Given the description of an element on the screen output the (x, y) to click on. 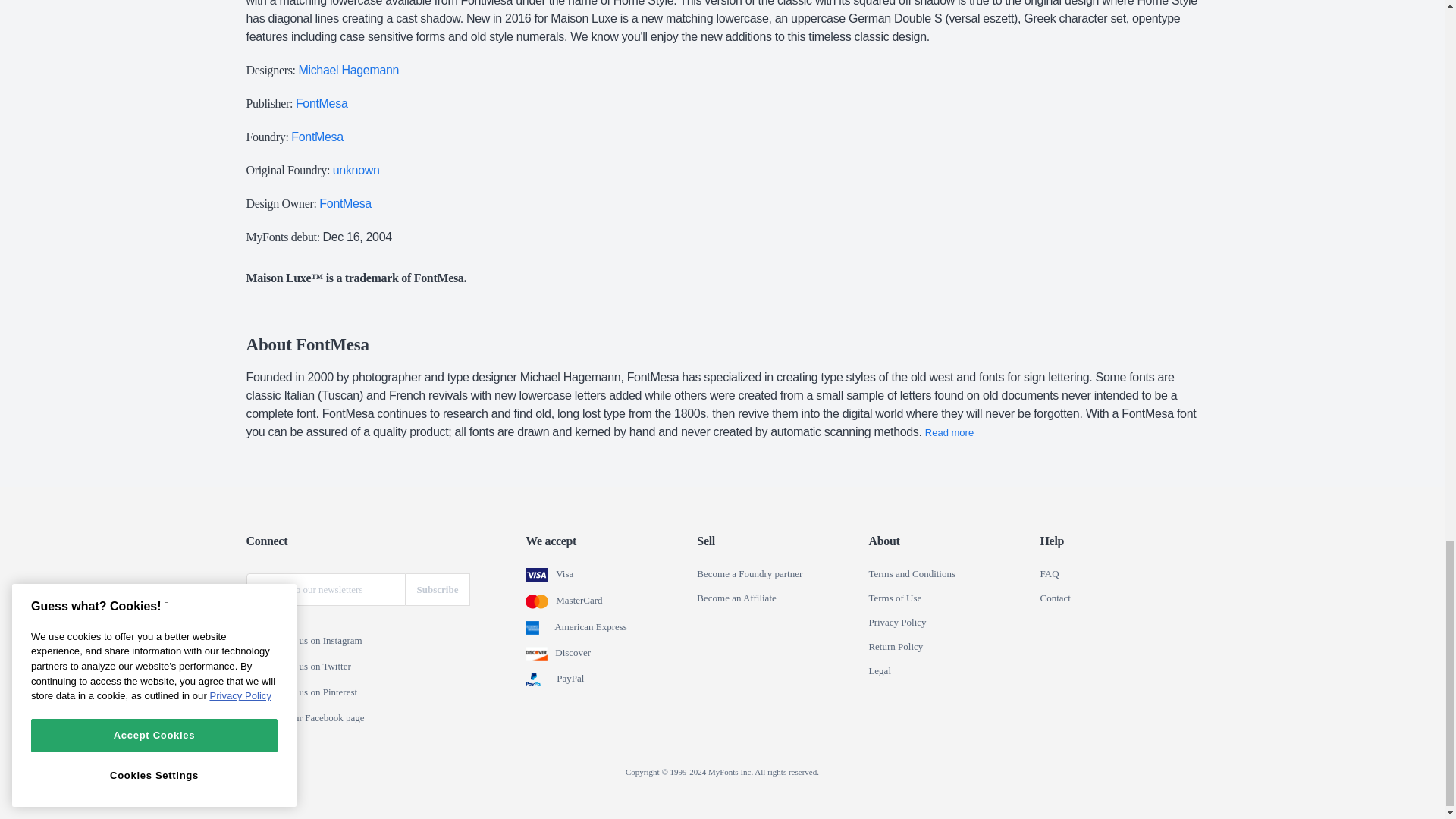
Like our Facebook page (256, 718)
Follow us on Twitter (256, 667)
Please fill out this field (325, 589)
Follow us on Pinterest (256, 693)
Follow us on Instagram (256, 641)
Become a Foundry partner (749, 573)
